Given the description of an element on the screen output the (x, y) to click on. 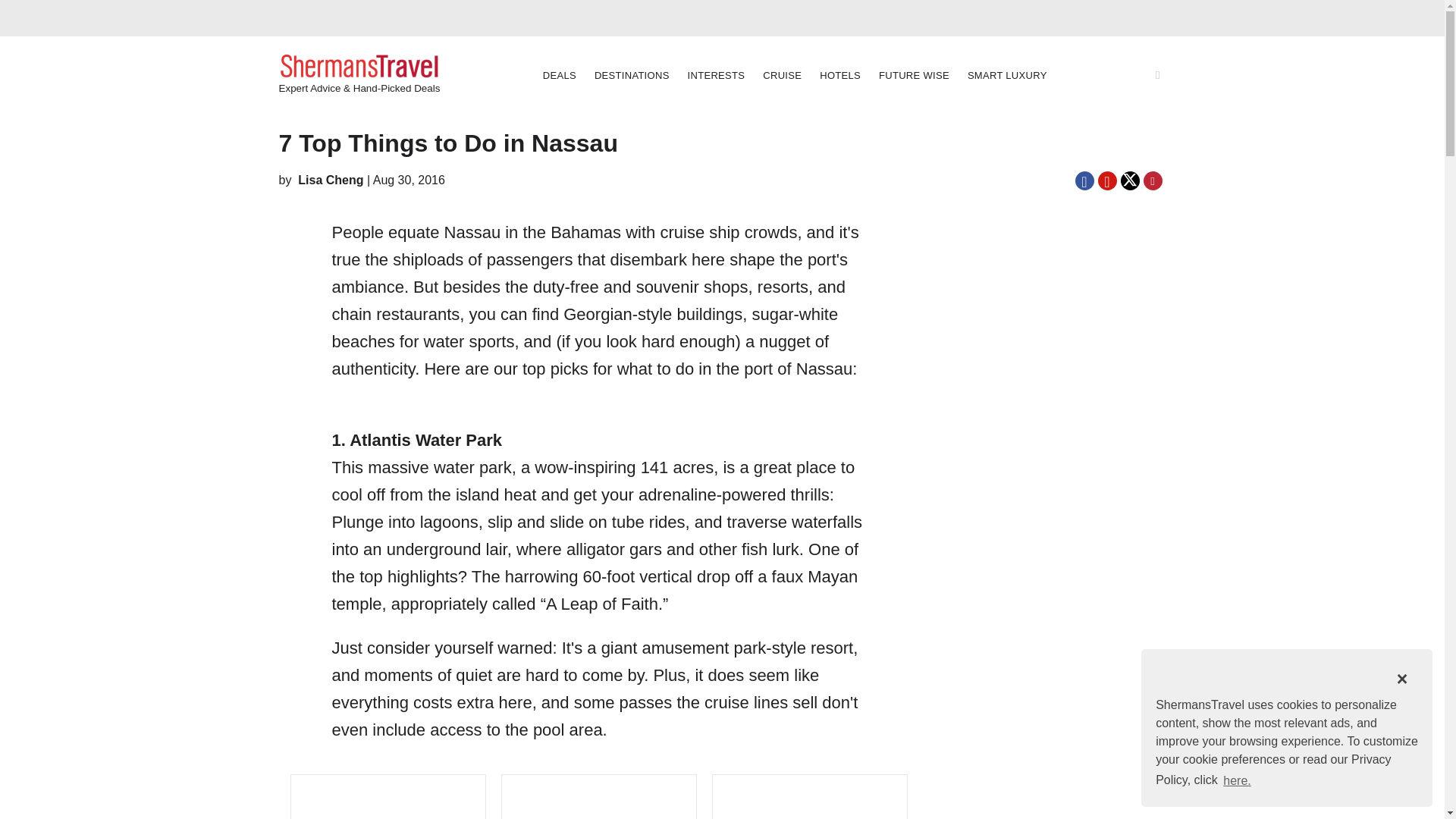
DEALS (559, 75)
HOTELS (839, 75)
here. (1237, 780)
INTERESTS (716, 75)
FUTURE WISE (913, 75)
SMART LUXURY (1007, 75)
DESTINATIONS (631, 75)
CRUISE (782, 75)
